Given the description of an element on the screen output the (x, y) to click on. 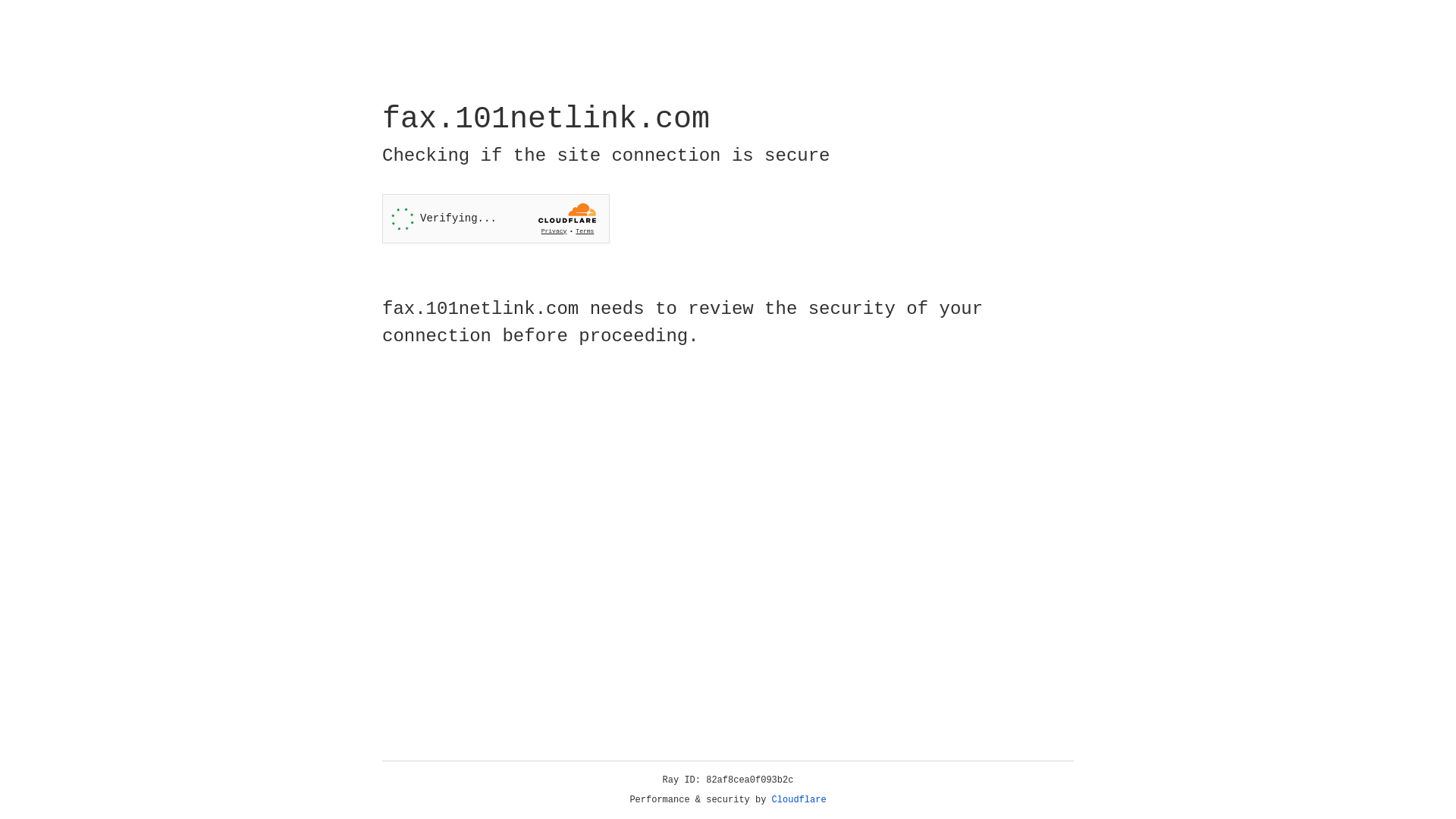
Cloudflare Element type: text (798, 799)
Widget containing a Cloudflare security challenge Element type: hover (495, 218)
